Given the description of an element on the screen output the (x, y) to click on. 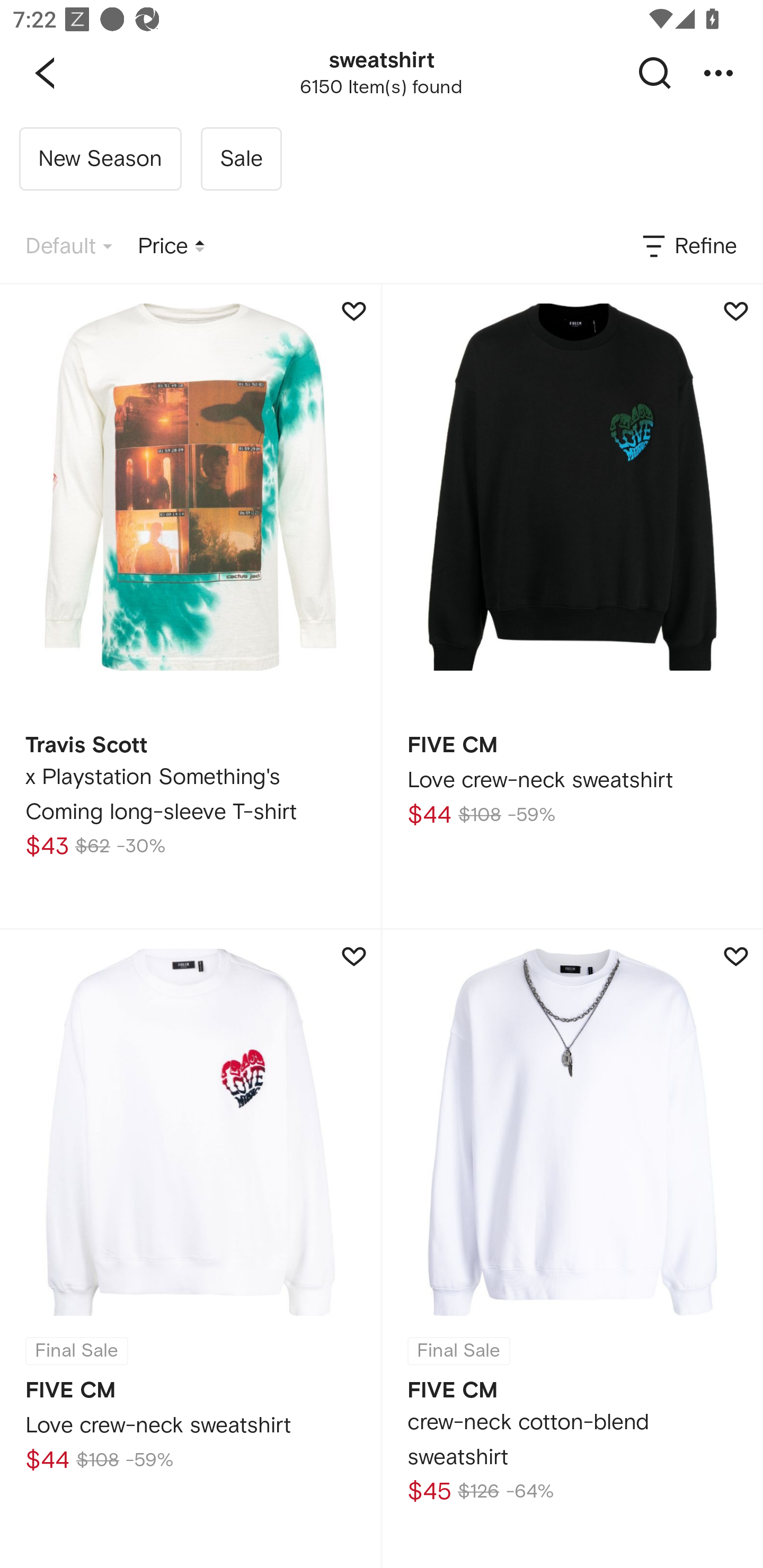
New Season (100, 158)
Sale (240, 158)
Default (68, 246)
Price (171, 246)
Refine (688, 246)
FIVE CM Love crew-neck sweatshirt $44 $108 -59% (572, 605)
